Given the description of an element on the screen output the (x, y) to click on. 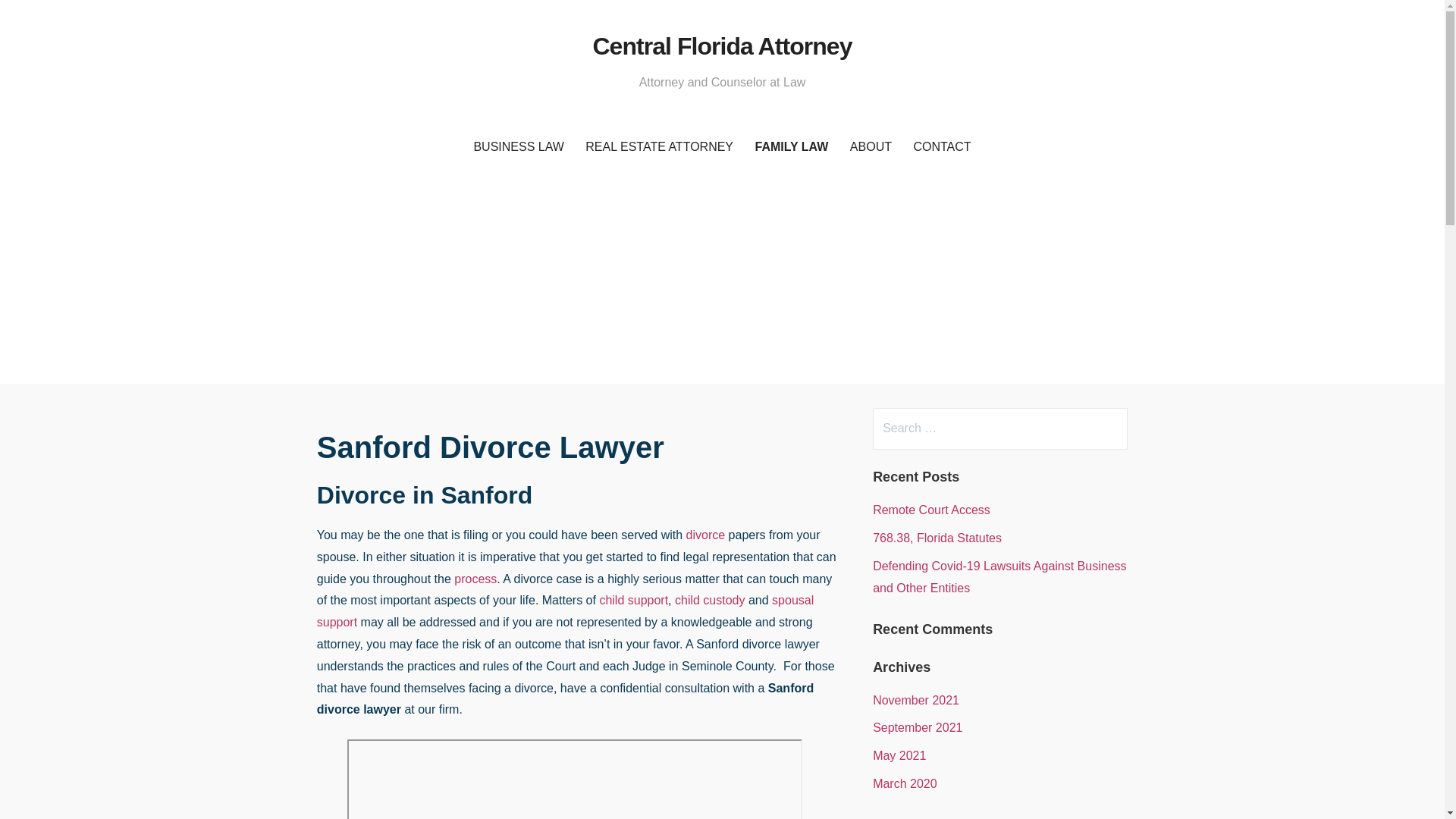
spousal support (565, 610)
BUSINESS LAW (518, 146)
FAMILY LAW (791, 146)
ABOUT (871, 146)
divorce (705, 534)
REAL ESTATE ATTORNEY (659, 146)
child custody (710, 599)
process (475, 578)
CONTACT (941, 146)
Central Florida Attorney (721, 45)
